Given the description of an element on the screen output the (x, y) to click on. 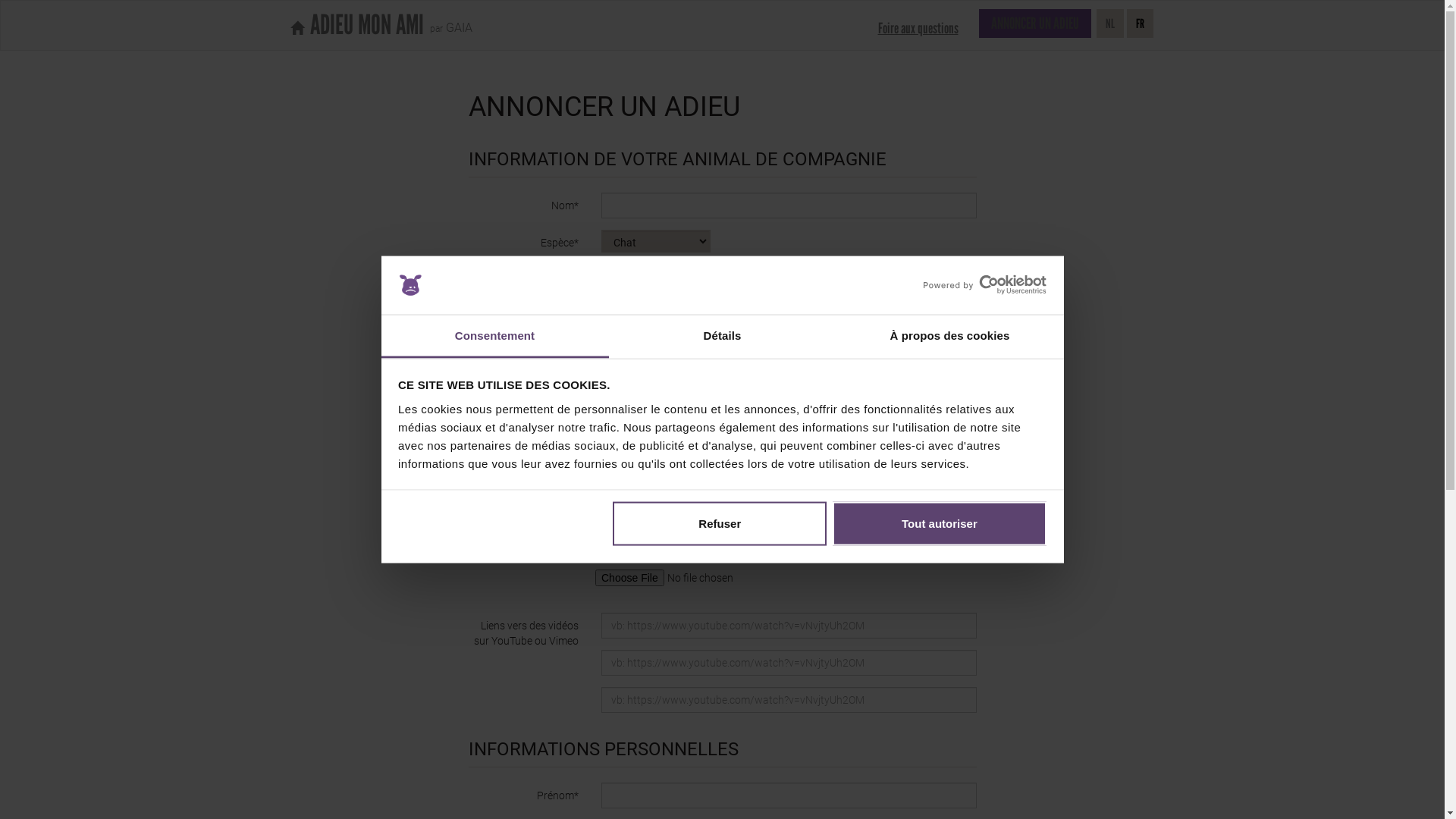
ADIEU MON AMI Element type: text (357, 24)
par GAIA Element type: text (447, 22)
Tout autoriser Element type: text (939, 524)
Refuser Element type: text (719, 524)
FR Element type: text (1139, 23)
Foire aux questions Element type: text (917, 28)
NL Element type: text (1109, 23)
ANNONCER UN ADIEU Element type: text (1034, 23)
Consentement Element type: text (494, 335)
